Given the description of an element on the screen output the (x, y) to click on. 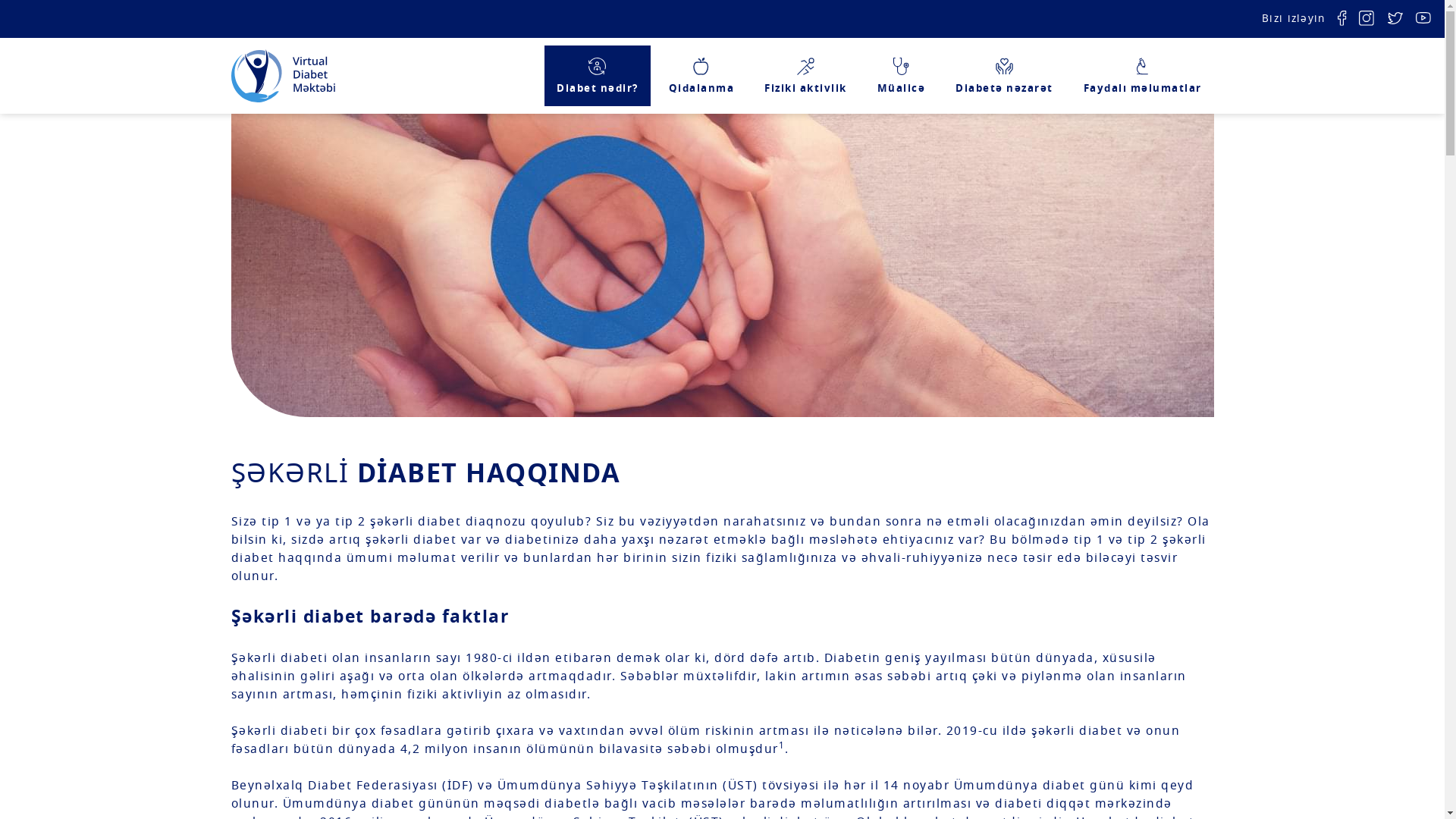
Qidalanma Element type: text (701, 75)
Fiziki aktivlik Element type: text (805, 75)
